Given the description of an element on the screen output the (x, y) to click on. 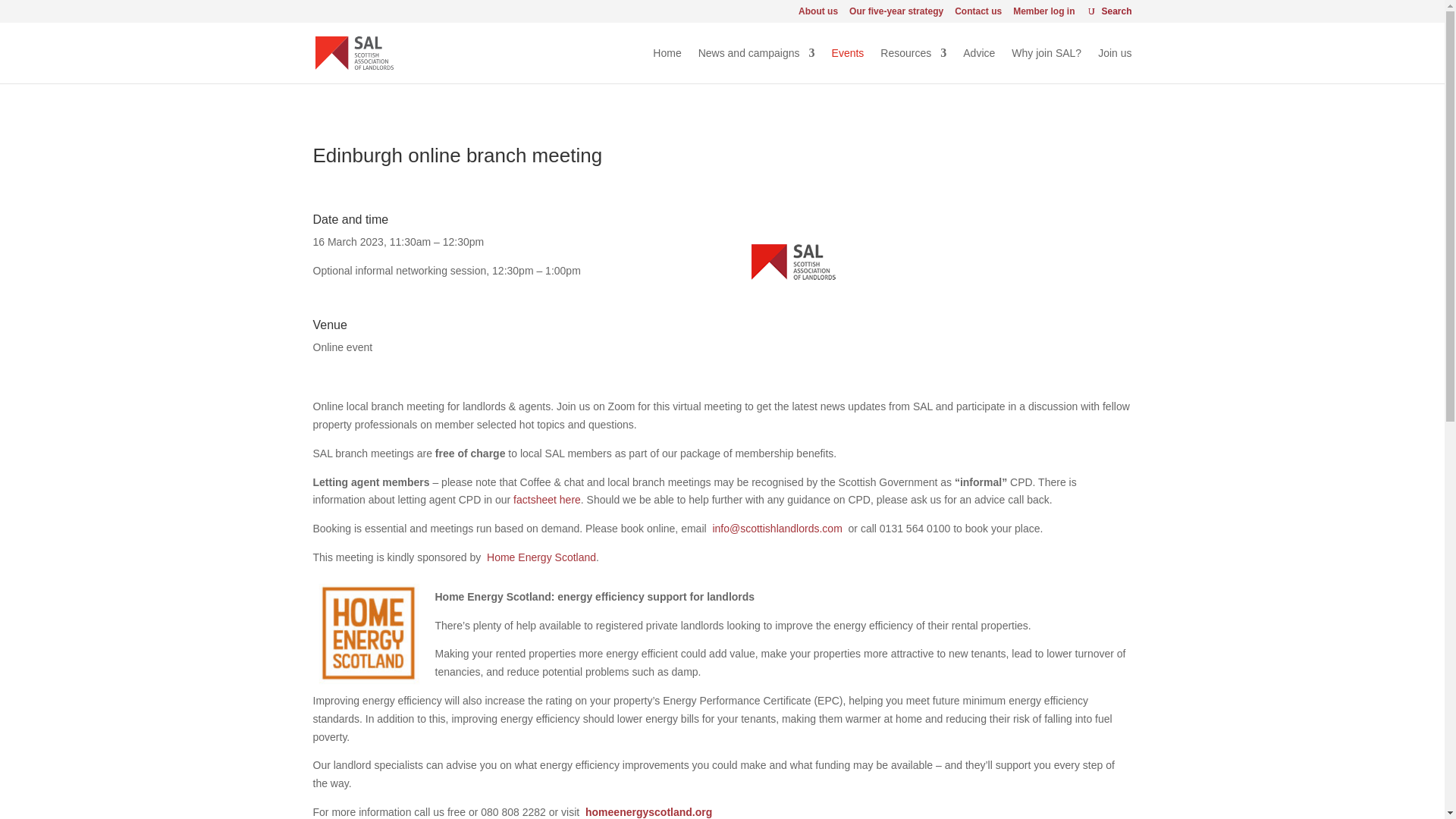
factsheet here (546, 499)
Contact us (978, 14)
Advice (978, 65)
News and campaigns (756, 65)
homeenergyscotland.org (648, 811)
About us (817, 14)
Member log in (1043, 14)
Our five-year strategy (895, 14)
Why join SAL? (1046, 65)
Resources (913, 65)
